Given the description of an element on the screen output the (x, y) to click on. 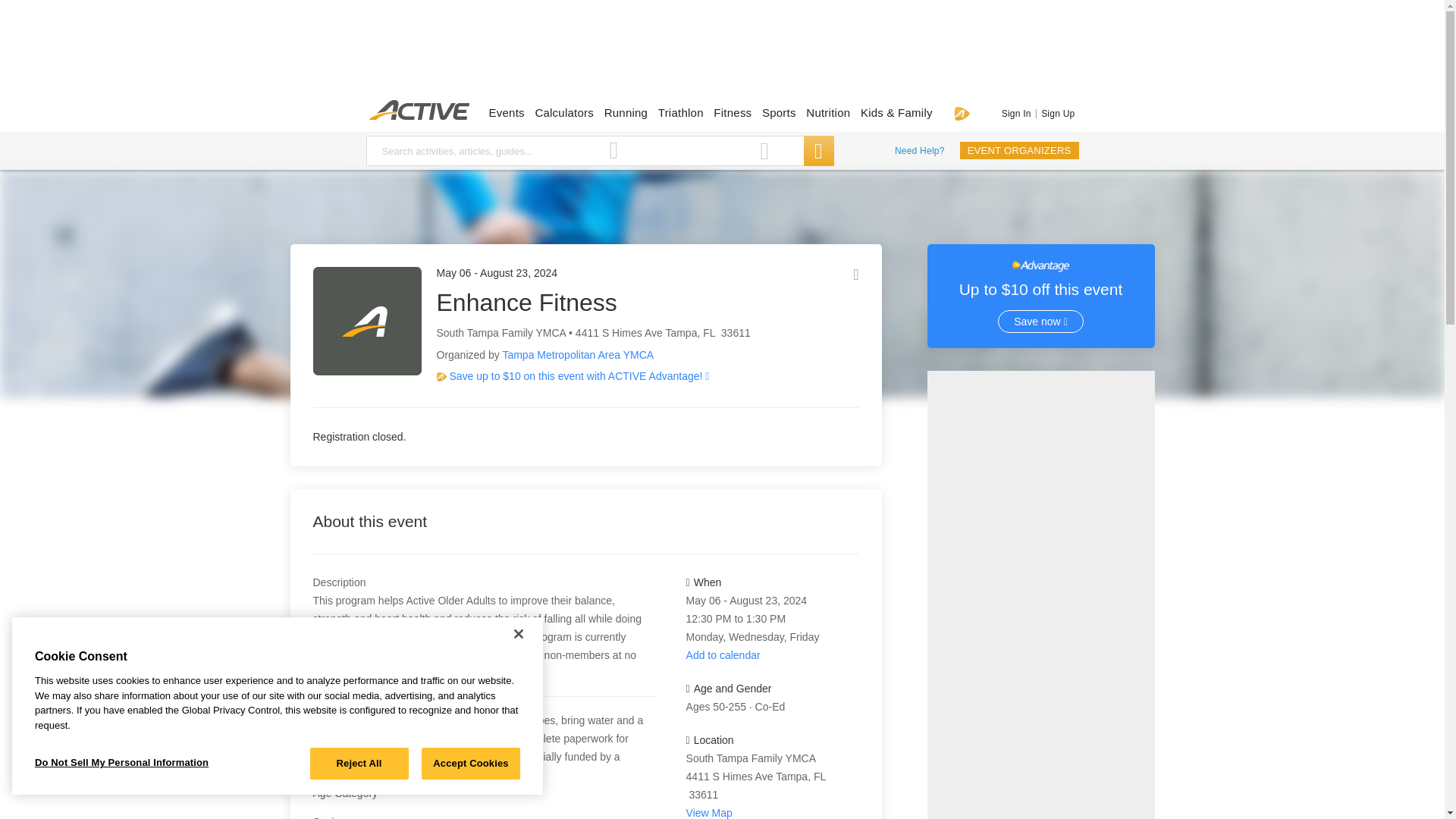
Go Premium (961, 113)
Learn more about event advantage information! (637, 377)
3rd party ad content (721, 53)
